Given the description of an element on the screen output the (x, y) to click on. 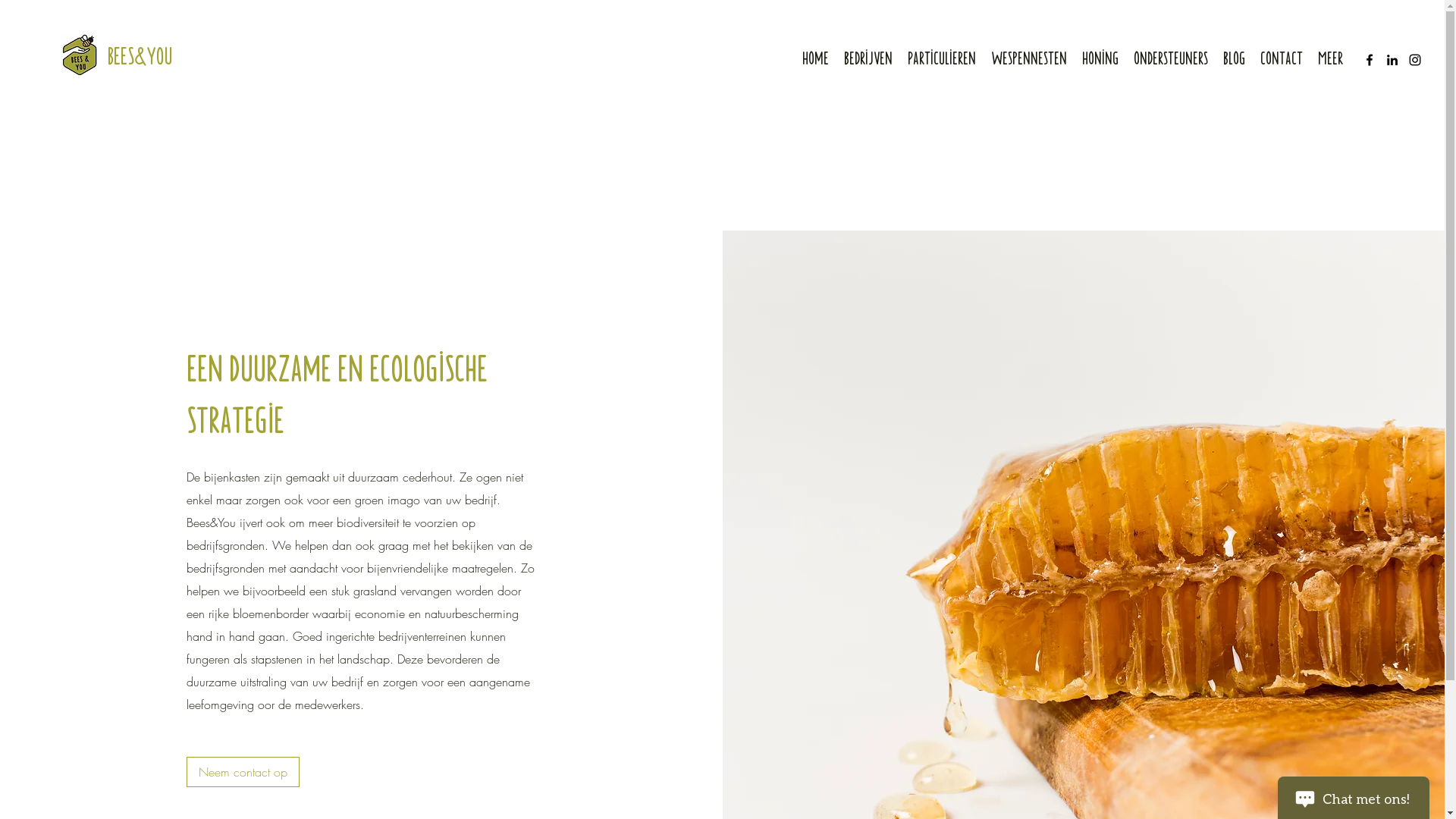
Bedrijven Element type: text (868, 56)
Contact Element type: text (1281, 56)
Blog Element type: text (1233, 56)
Ondersteuners Element type: text (1170, 56)
Wespennesten Element type: text (1028, 56)
Honing Element type: text (1100, 56)
Bees&You Element type: text (139, 53)
Neem contact op Element type: text (242, 771)
Particulieren Element type: text (941, 56)
Home Element type: text (815, 56)
